Given the description of an element on the screen output the (x, y) to click on. 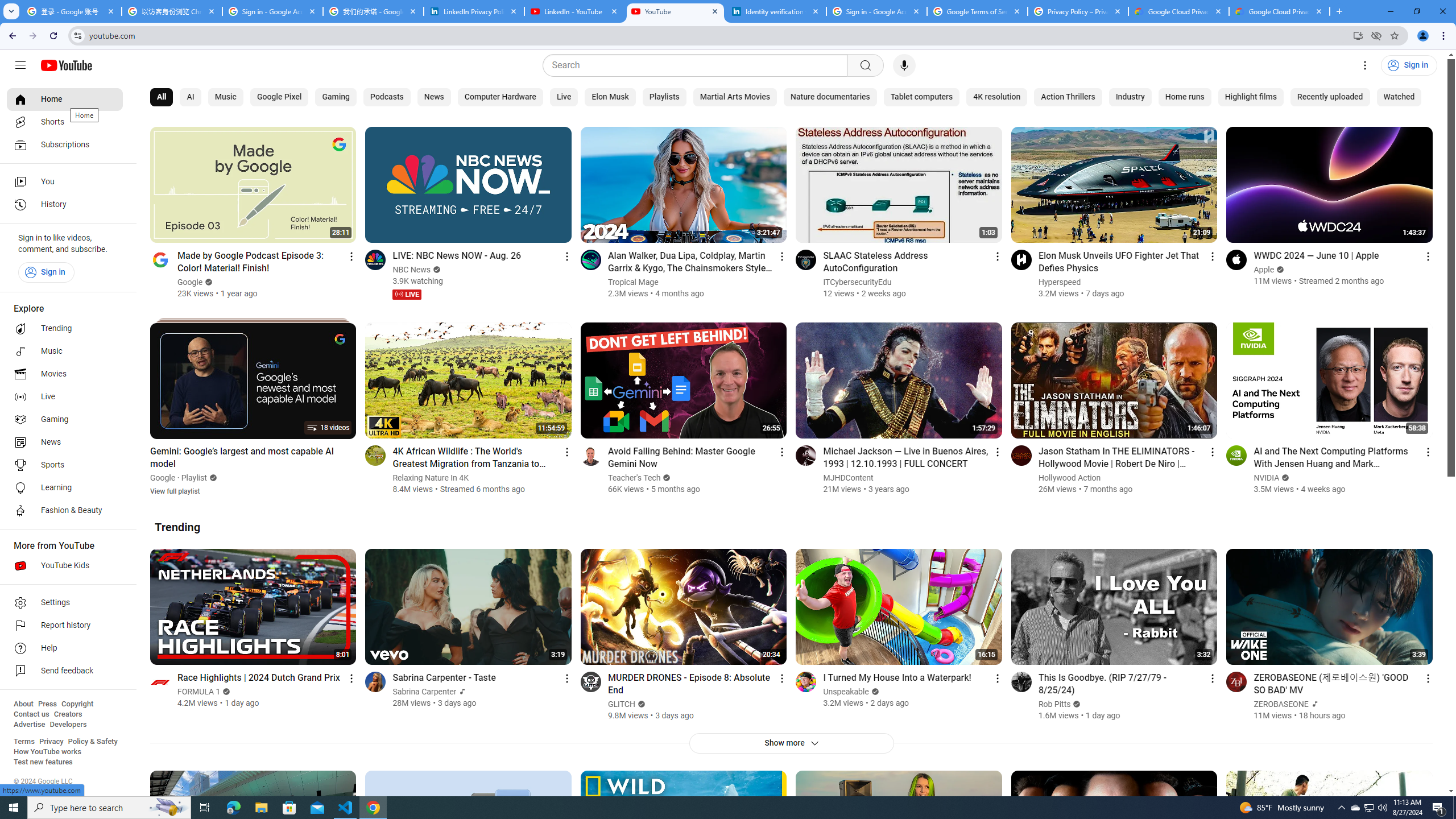
Developers (68, 724)
Contact us (31, 714)
LinkedIn Privacy Policy (474, 11)
Third-party cookies blocked (1376, 35)
NBC News (411, 269)
NVIDIA (1266, 477)
4K resolution (996, 97)
Playlist (194, 477)
Address and search bar (717, 35)
Computer Hardware (500, 97)
Watched (1398, 97)
